Given the description of an element on the screen output the (x, y) to click on. 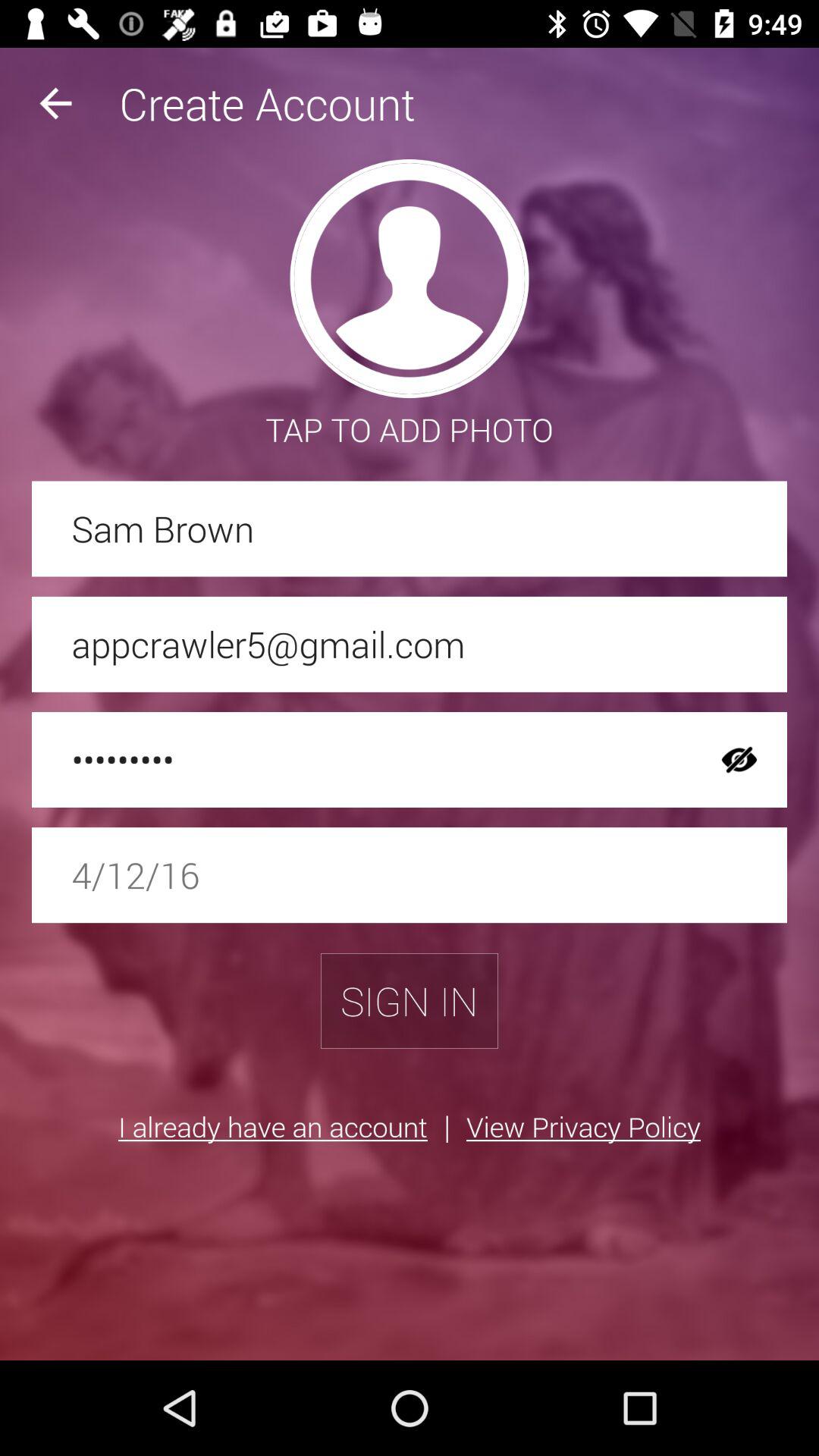
swipe until the crowd3116 (361, 759)
